Given the description of an element on the screen output the (x, y) to click on. 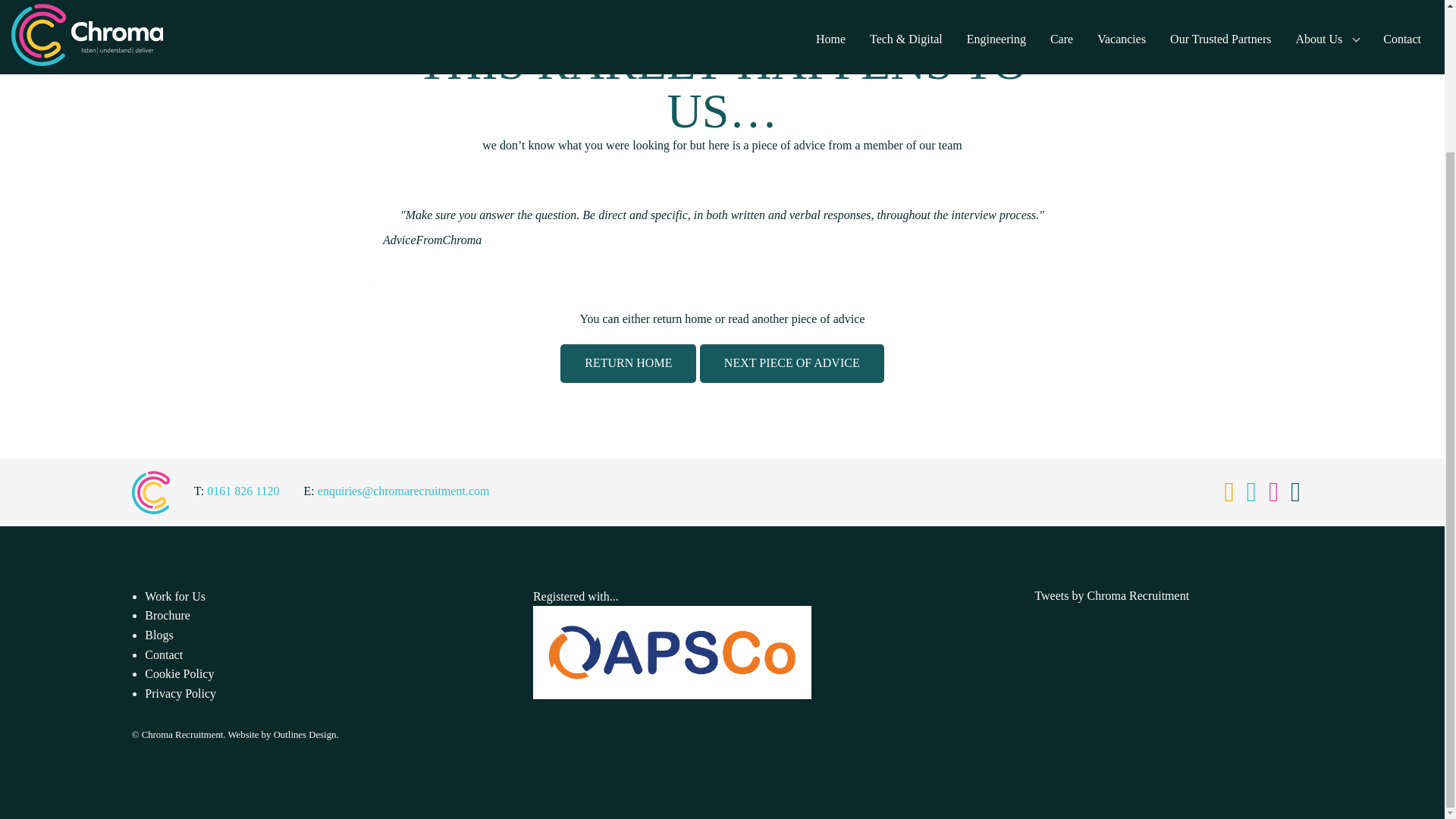
Contact (163, 654)
Privacy Policy (179, 693)
Outlines Design (304, 734)
Cookie Policy (179, 673)
NEXT PIECE OF ADVICE (791, 363)
Brochure (167, 615)
Blogs (158, 634)
Tweets by Chroma Recruitment (1111, 594)
Work for Us (174, 595)
RETURN HOME (627, 363)
